Given the description of an element on the screen output the (x, y) to click on. 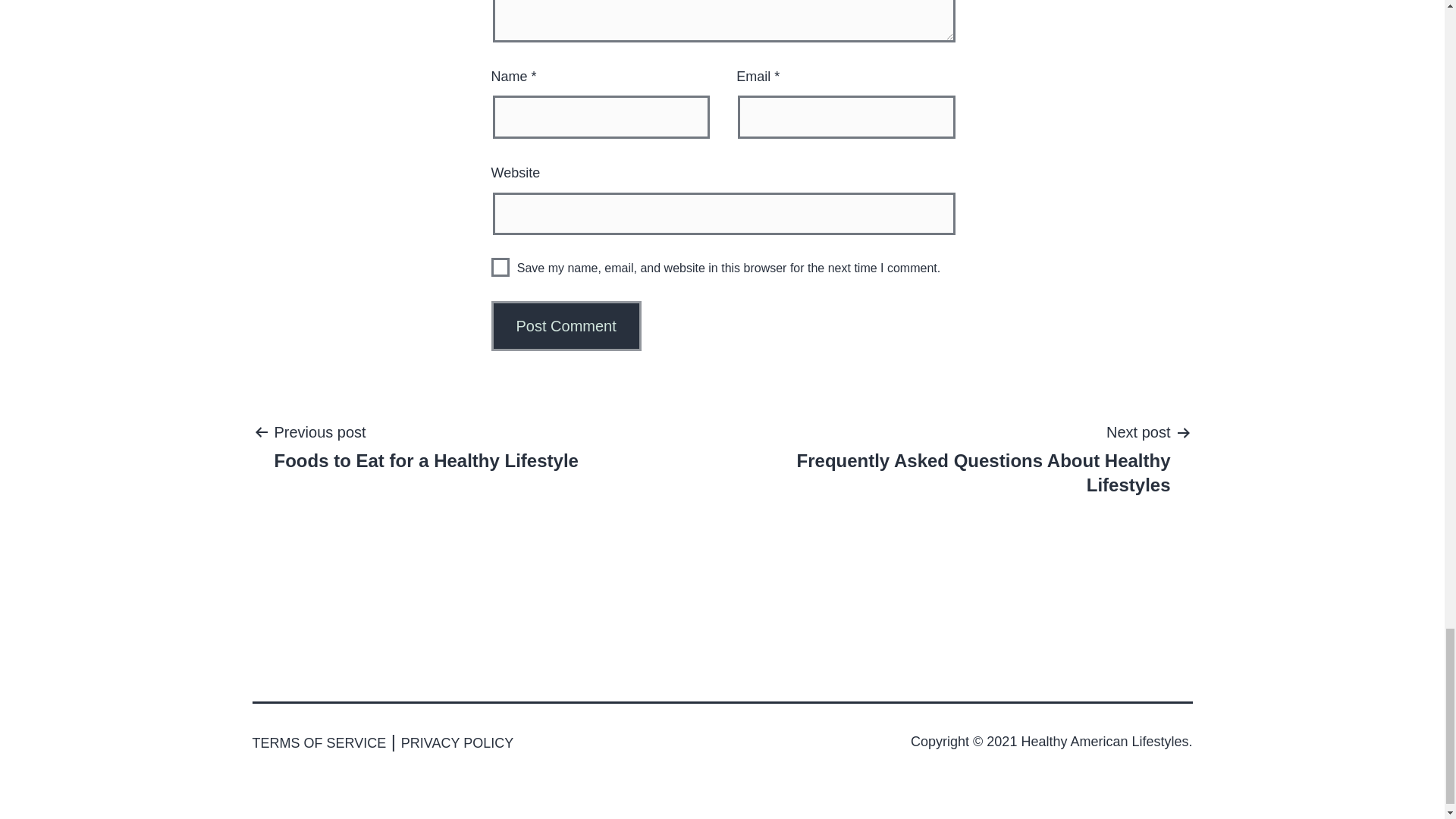
PRIVACY POLICY (425, 445)
Post Comment (457, 743)
Post Comment (567, 326)
yes (567, 326)
TERMS OF SERVICE (500, 266)
